Given the description of an element on the screen output the (x, y) to click on. 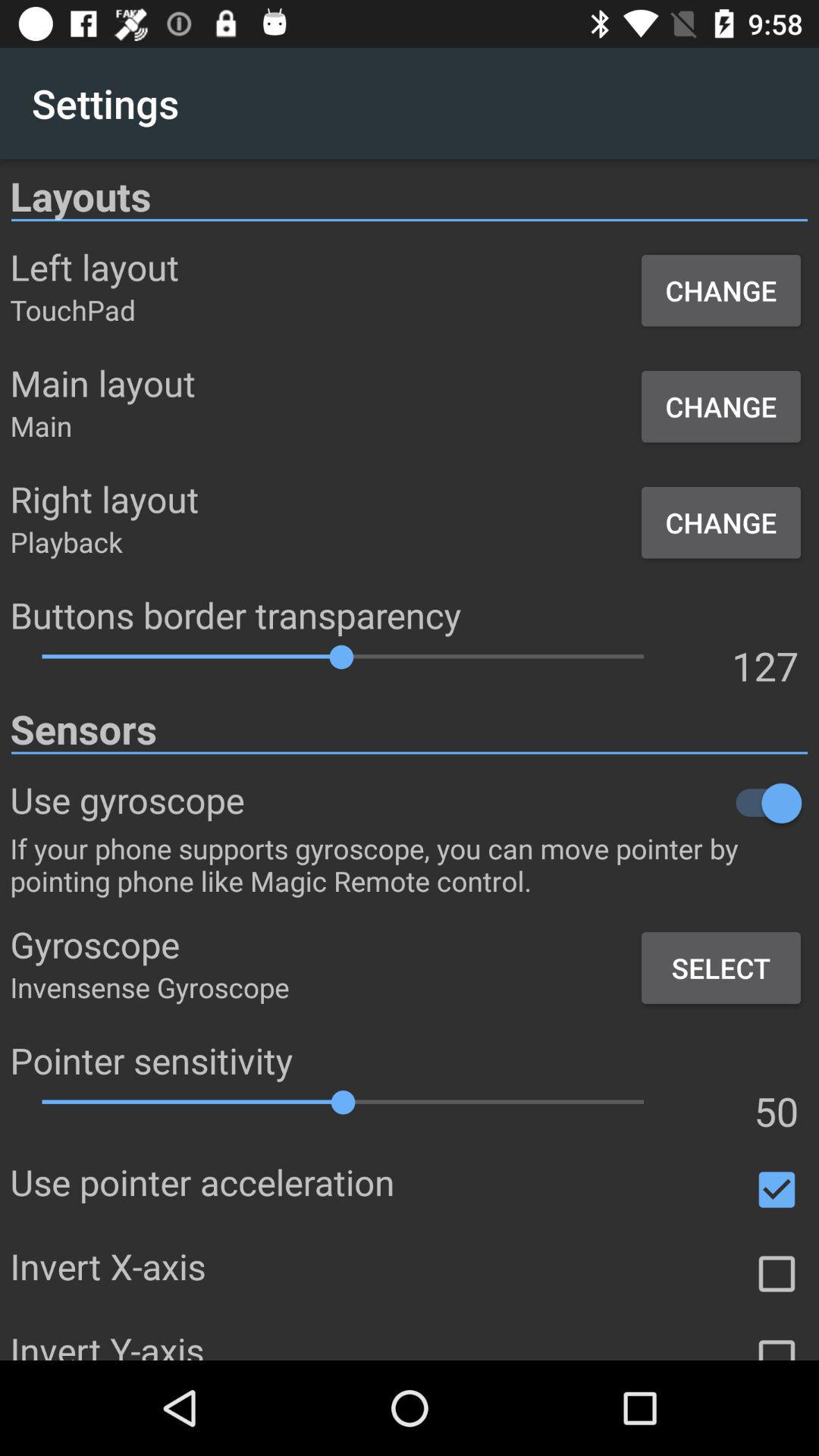
toggle use pointer acceleration (776, 1189)
